Given the description of an element on the screen output the (x, y) to click on. 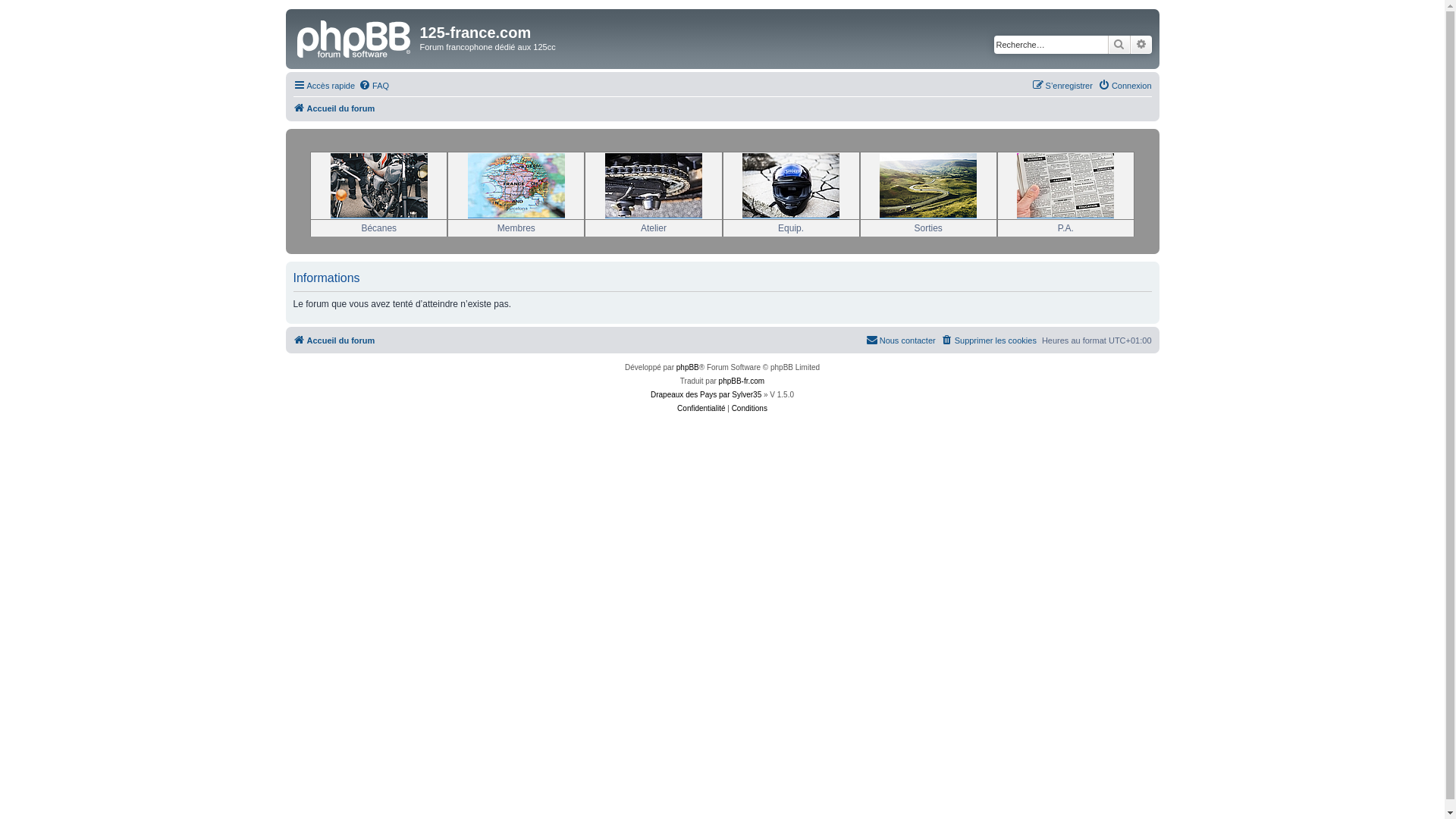
Rechercher Element type: text (1118, 44)
Connexion Element type: text (1124, 85)
Conditions Element type: text (749, 408)
Accueil du forum Element type: text (333, 340)
phpBB Element type: text (687, 367)
FAQ Element type: text (373, 85)
Nous contacter Element type: text (900, 340)
phpBB-fr.com Element type: text (741, 381)
Drapeaux des Pays par Sylver35 Element type: text (705, 394)
Supprimer les cookies Element type: text (988, 340)
Accueil du forum Element type: hover (354, 36)
Accueil du forum Element type: text (333, 108)
